Given the description of an element on the screen output the (x, y) to click on. 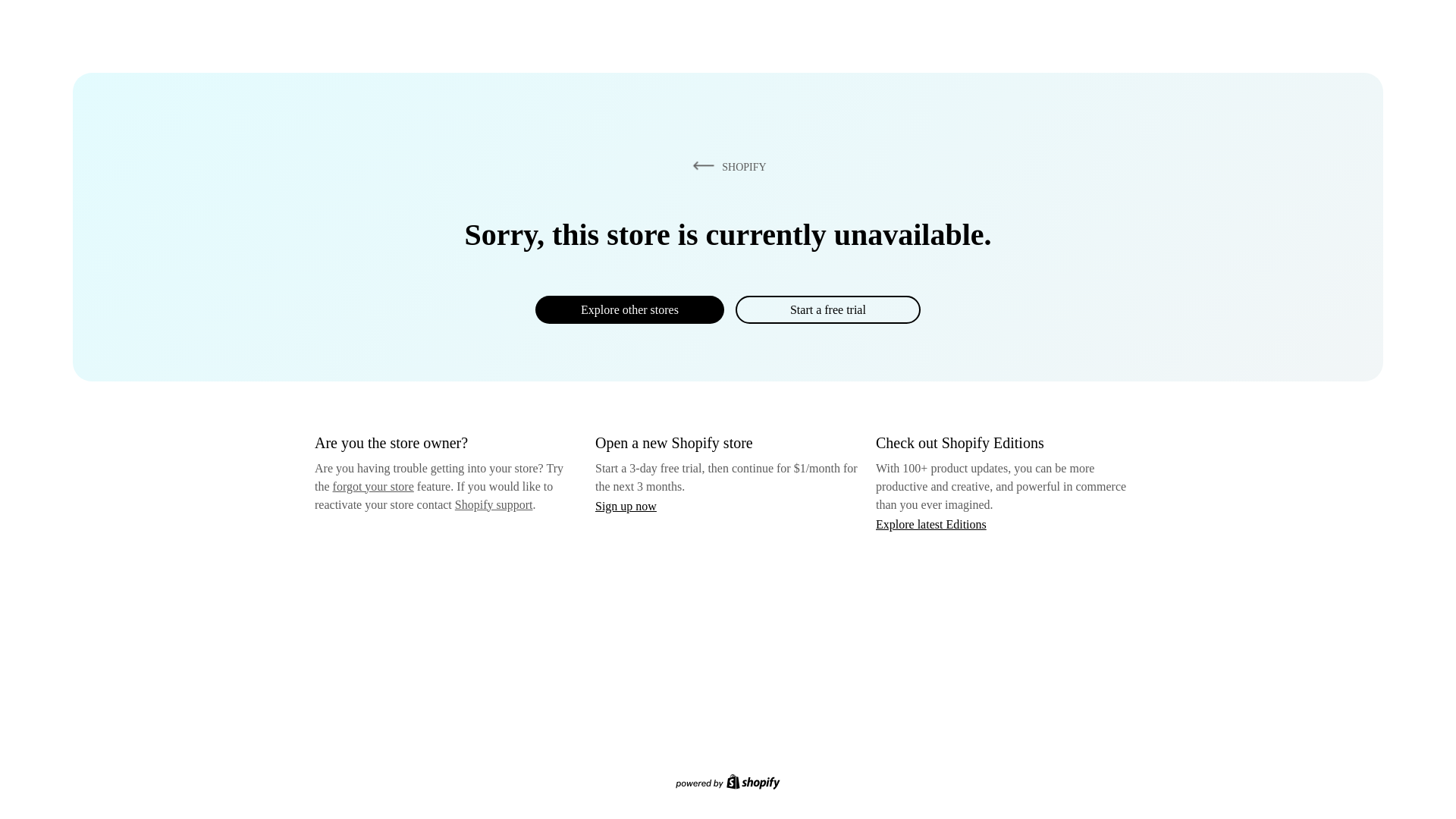
Explore latest Editions (931, 523)
Sign up now (625, 505)
SHOPIFY (726, 166)
Start a free trial (827, 309)
forgot your store (373, 486)
Shopify support (493, 504)
Explore other stores (629, 309)
